Given the description of an element on the screen output the (x, y) to click on. 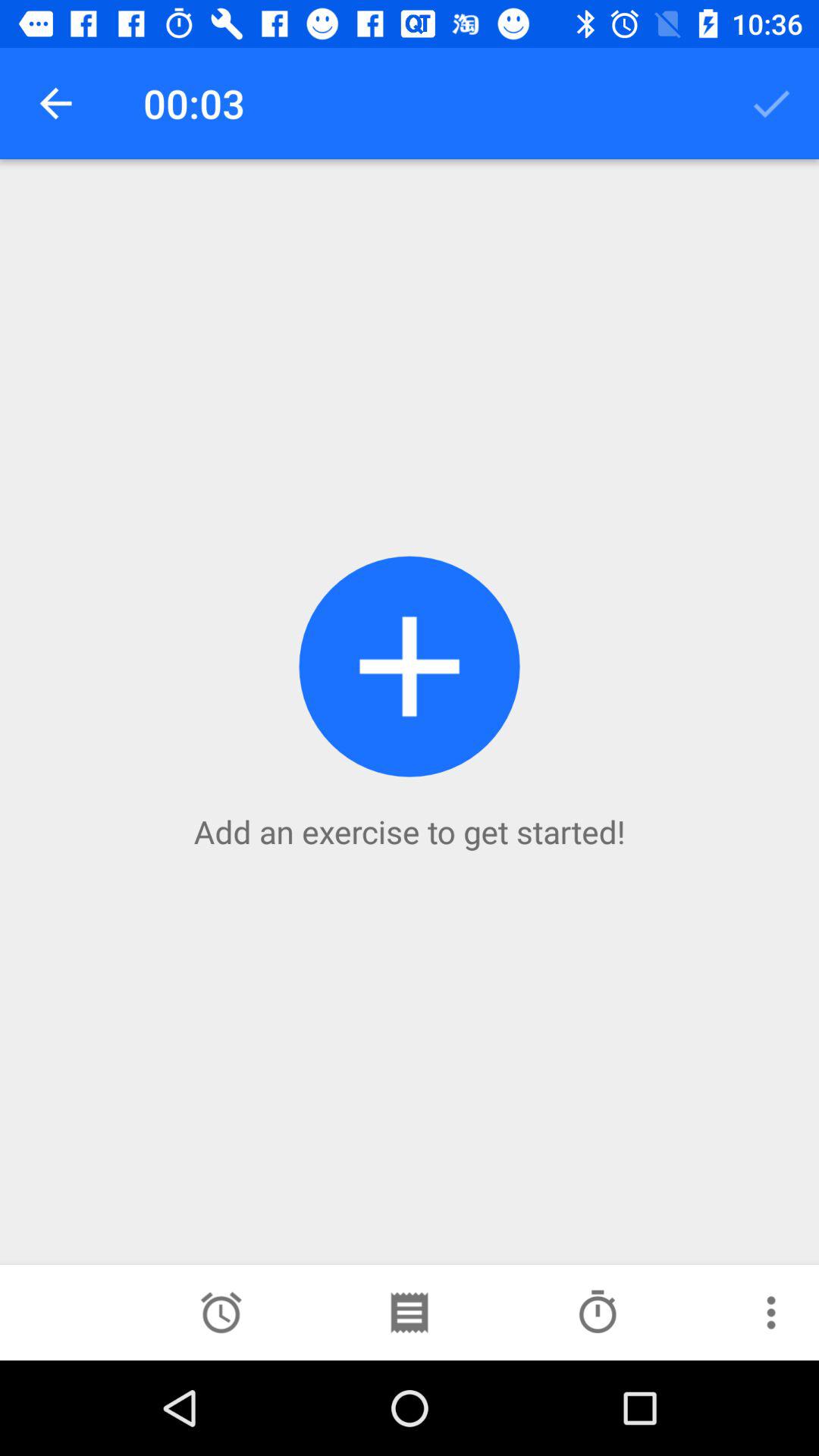
select workout program (409, 1312)
